Given the description of an element on the screen output the (x, y) to click on. 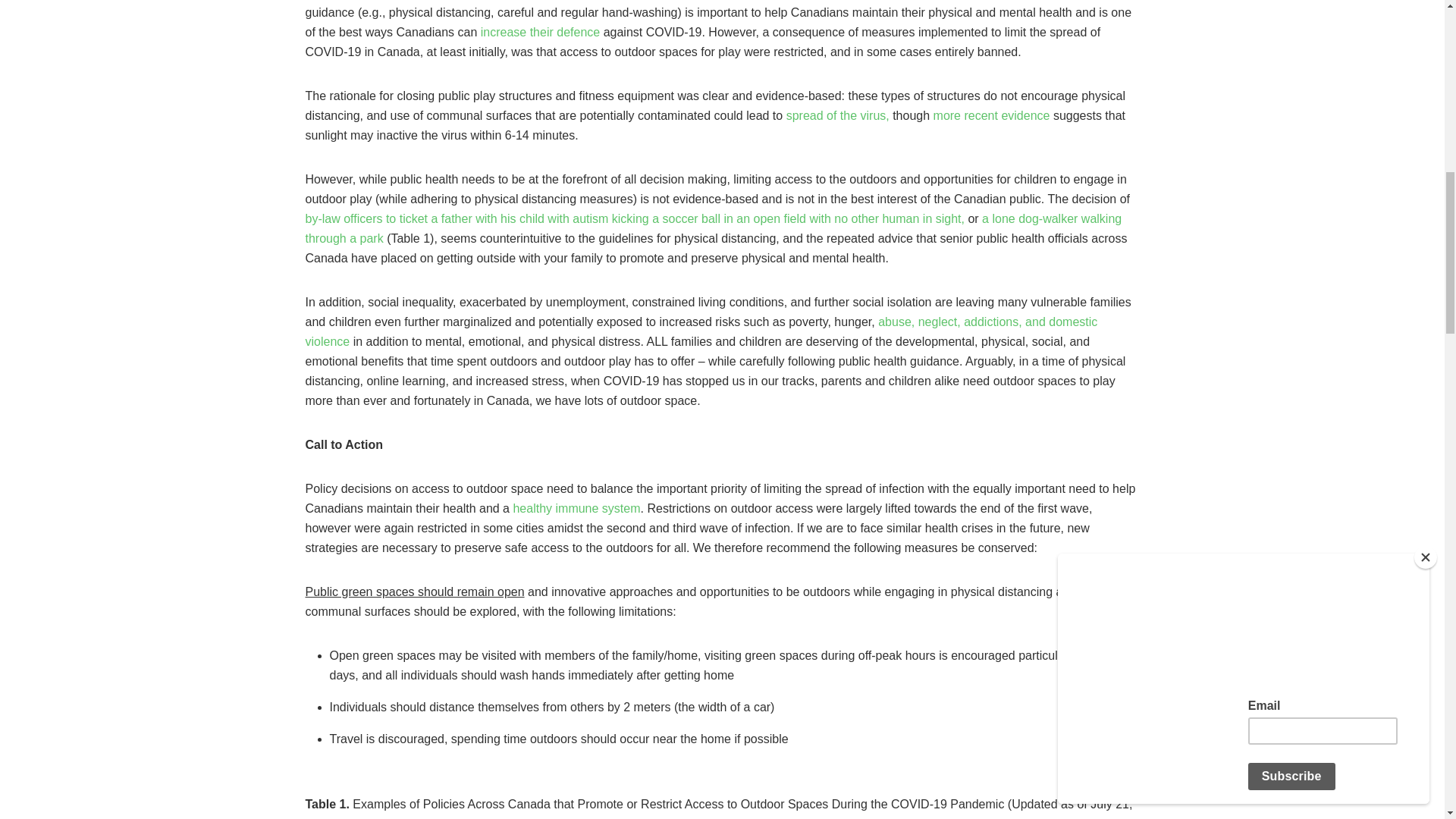
more recent evidence (992, 115)
increase their defence (539, 31)
spread of the virus, (839, 115)
